Given the description of an element on the screen output the (x, y) to click on. 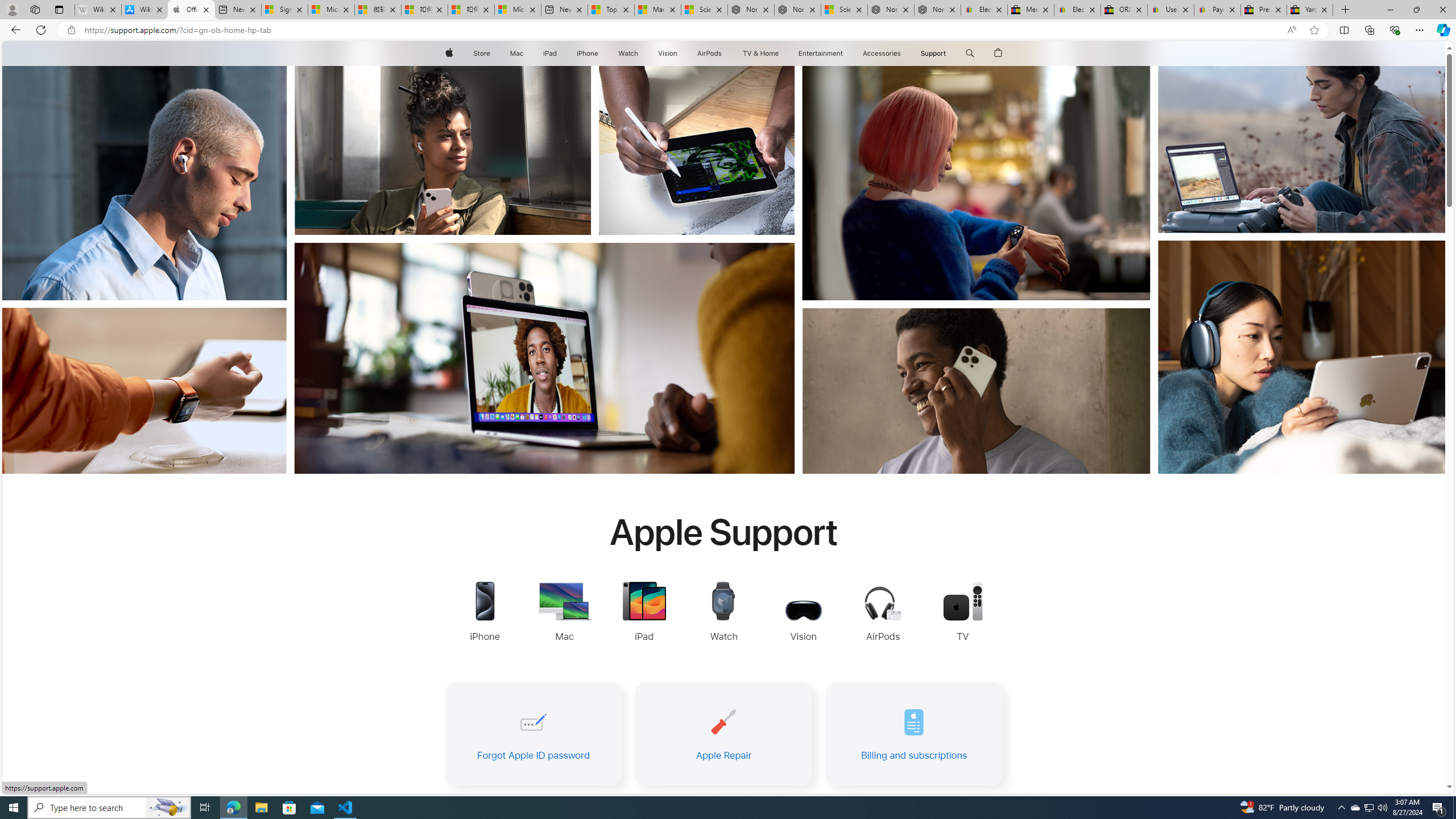
AirPods (709, 53)
TV Support (962, 612)
iPad (550, 53)
iPhone menu (600, 53)
Vision (667, 53)
iPhone Support (484, 612)
Accessories menu (903, 53)
Official Apple Support (191, 9)
Watch menu (640, 53)
Class: globalnav-item globalnav-search shift-0-1 (969, 53)
